Given the description of an element on the screen output the (x, y) to click on. 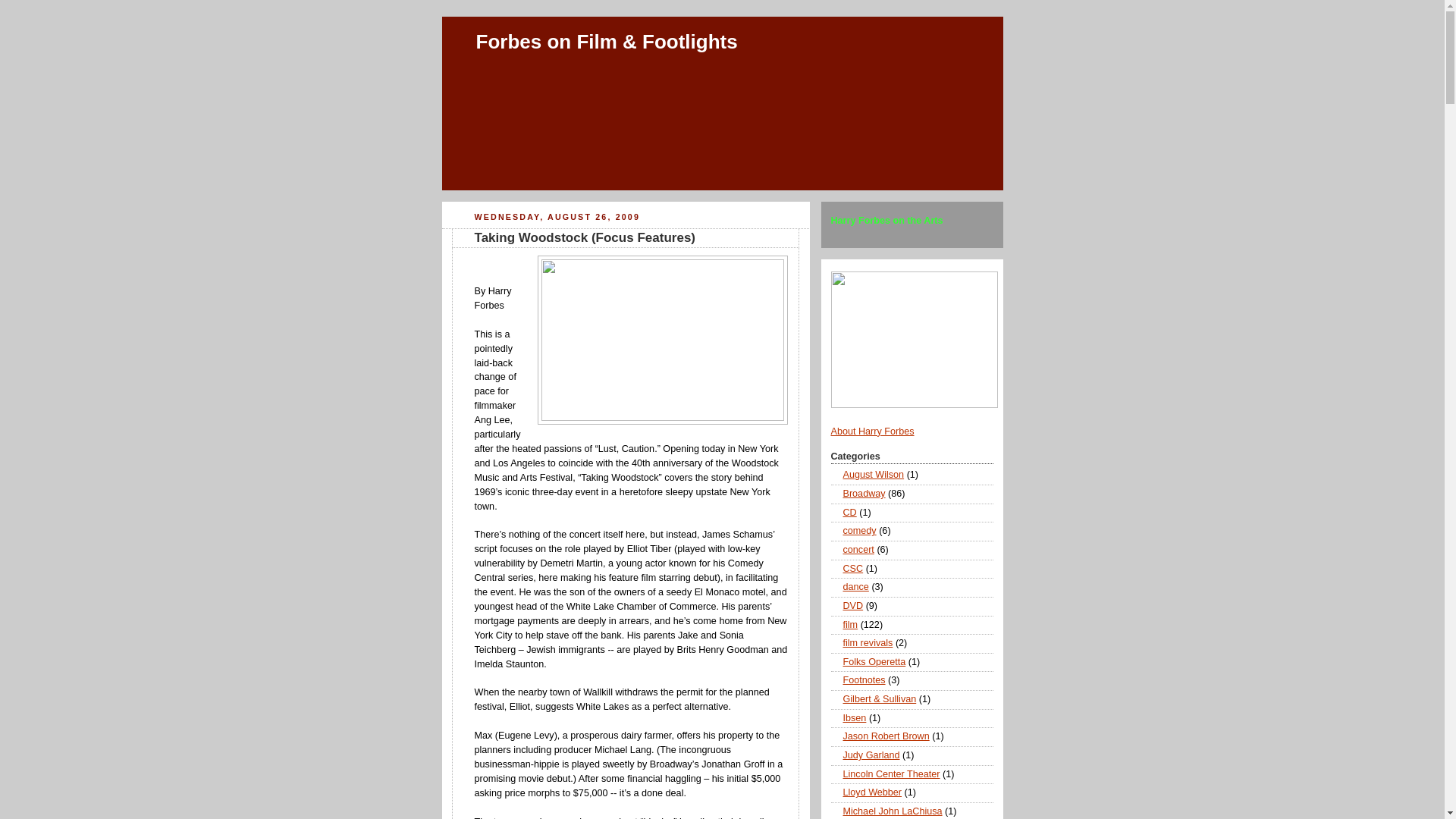
Broadway (864, 493)
Michael John LaChiusa (892, 810)
August Wilson (873, 474)
Ibsen (854, 717)
film (851, 624)
Lincoln Center Theater (891, 774)
comedy (859, 530)
dance (856, 586)
Lloyd Webber (872, 792)
CSC (853, 568)
DVD (853, 605)
About Harry Forbes (872, 430)
Judy Garland (871, 755)
concert (859, 549)
film revivals (868, 643)
